Given the description of an element on the screen output the (x, y) to click on. 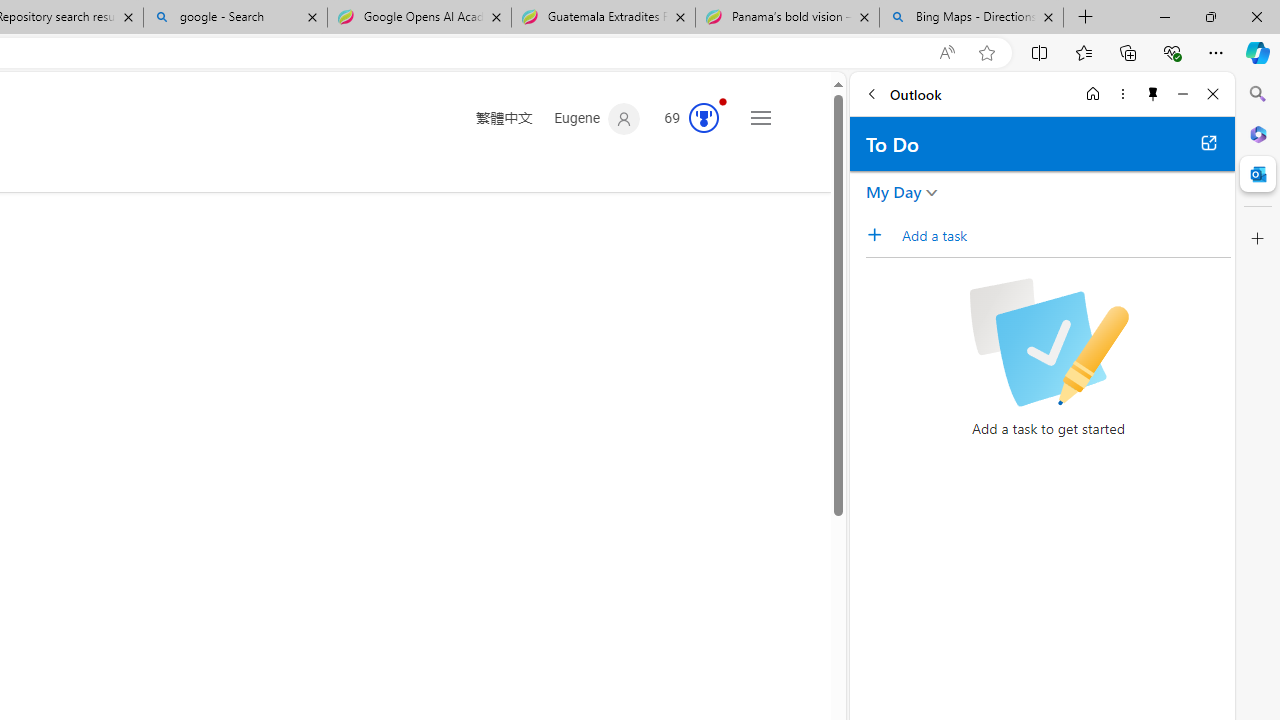
My Day (893, 191)
AutomationID: rh_meter (703, 117)
Microsoft Rewards 66 (685, 119)
